Given the description of an element on the screen output the (x, y) to click on. 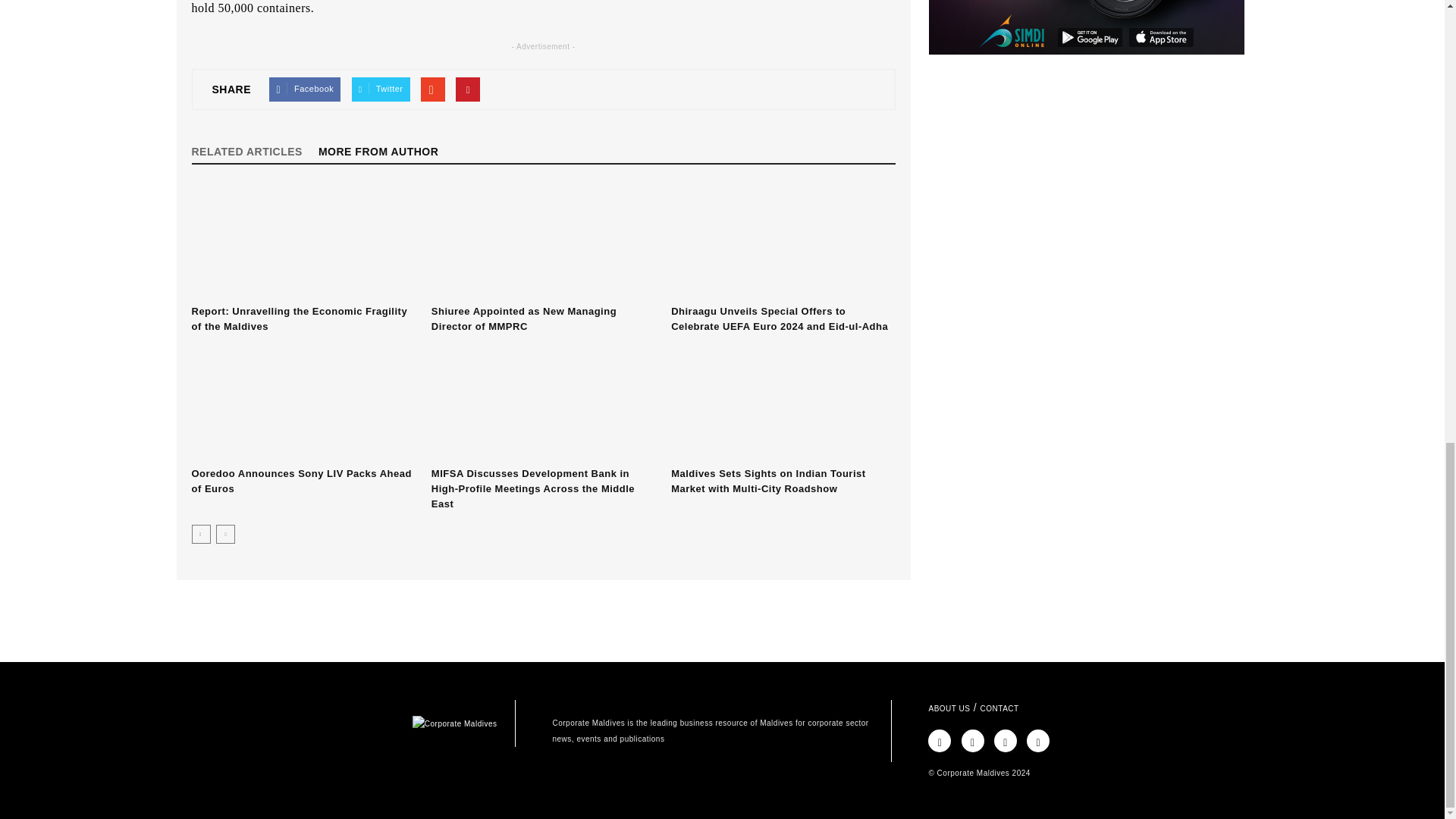
Ooredoo Announces Sony LIV Packs Ahead of Euros (300, 480)
Facebook (304, 88)
Ooredoo Announces Sony LIV Packs Ahead of Euros (302, 404)
Report: Unravelling the Economic Fragility of the Maldives (298, 318)
Shiuree Appointed as New Managing Director of MMPRC (542, 241)
Report: Unravelling the Economic Fragility of the Maldives (302, 241)
Twitter (381, 88)
